Given the description of an element on the screen output the (x, y) to click on. 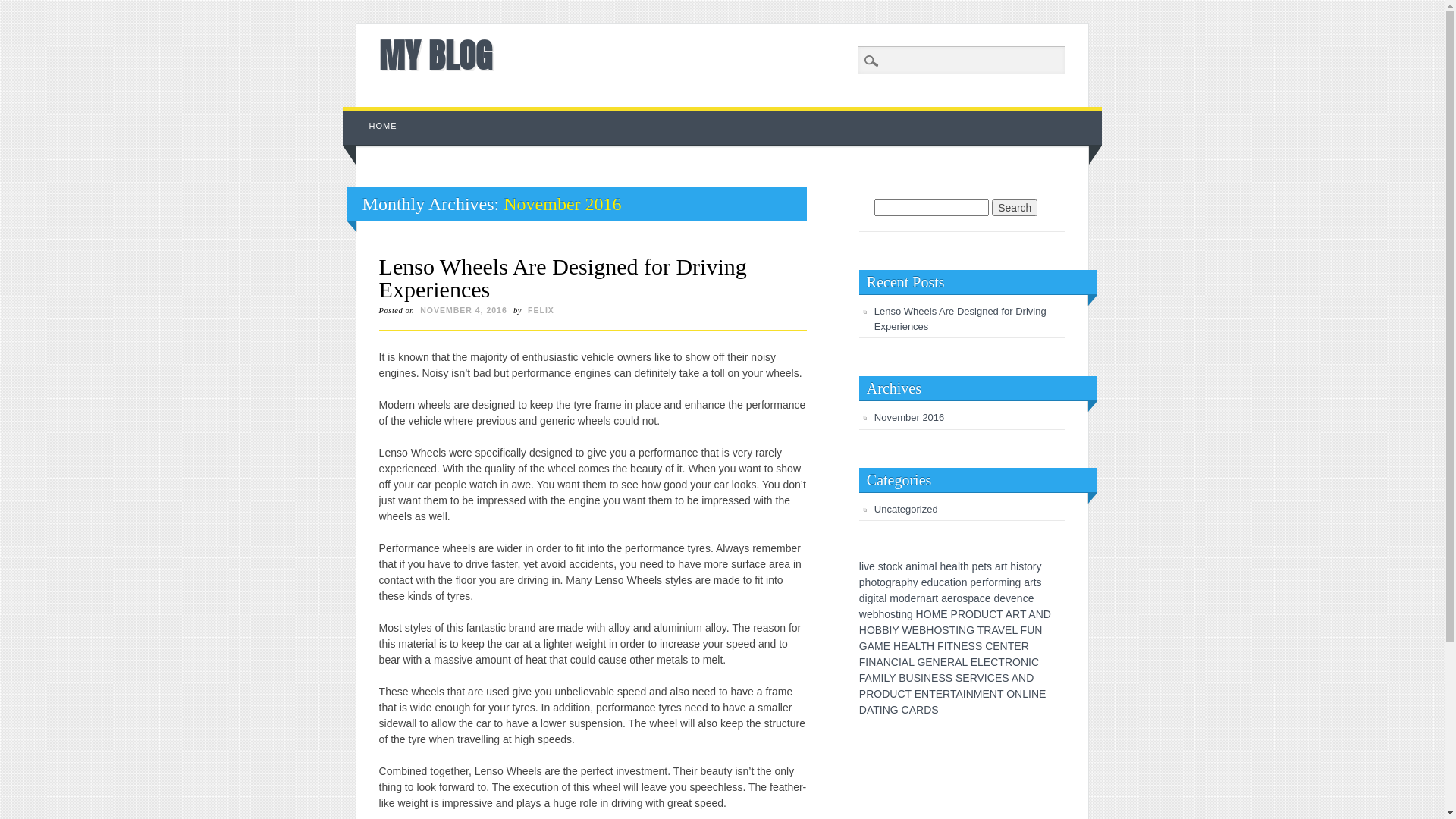
D Element type: text (1029, 677)
S Element type: text (1004, 677)
A Element type: text (957, 661)
a Element type: text (881, 598)
e Element type: text (913, 598)
o Element type: text (959, 598)
e Element type: text (1031, 598)
c Element type: text (982, 598)
e Element type: text (872, 566)
E Element type: text (997, 677)
l Element type: text (935, 566)
r Element type: text (1002, 566)
t Element type: text (877, 582)
t Element type: text (1034, 582)
r Element type: text (893, 582)
L Element type: text (1013, 630)
C Element type: text (988, 646)
F Element type: text (862, 677)
N Element type: text (936, 661)
d Element type: text (862, 598)
L Element type: text (885, 677)
D Element type: text (862, 709)
p Element type: text (972, 582)
B Element type: text (878, 630)
N Element type: text (1034, 693)
L Element type: text (1025, 693)
h Element type: text (881, 614)
w Element type: text (862, 614)
E Element type: text (917, 693)
B Element type: text (922, 630)
h Element type: text (1013, 566)
FELIX Element type: text (541, 309)
D Element type: text (1047, 614)
N Element type: text (962, 630)
E Element type: text (886, 646)
i Element type: text (1008, 582)
e Element type: text (1013, 598)
T Element type: text (953, 693)
U Element type: text (984, 614)
t Element type: text (896, 614)
E Element type: text (934, 677)
E Element type: text (928, 661)
S Element type: text (978, 646)
e Element type: text (948, 566)
e Element type: text (869, 614)
a Element type: text (1026, 582)
H Element type: text (929, 630)
T Element type: text (950, 646)
e Element type: text (1002, 598)
y Element type: text (915, 582)
I Element type: text (921, 677)
A Element type: text (994, 630)
o Element type: text (873, 582)
t Element type: text (1005, 566)
l Element type: text (958, 566)
t Element type: text (876, 598)
I Element type: text (889, 630)
R Element type: text (1015, 614)
n Element type: text (903, 614)
T Element type: text (1022, 614)
B Element type: text (901, 677)
e Element type: text (980, 566)
N Element type: text (1003, 646)
T Element type: text (908, 693)
M Element type: text (878, 646)
T Element type: text (923, 646)
O Element type: text (1010, 693)
o Element type: text (889, 566)
f Element type: text (986, 582)
e Element type: text (950, 598)
E Element type: text (903, 646)
o Element type: text (1029, 566)
c Element type: text (1025, 598)
I Element type: text (964, 693)
M Element type: text (876, 677)
u Element type: text (935, 582)
B Element type: text (884, 630)
R Element type: text (987, 630)
F Element type: text (1023, 630)
a Element type: text (897, 582)
O Element type: text (969, 614)
R Element type: text (919, 709)
k Element type: text (899, 566)
MY BLOG Element type: text (435, 55)
R Element type: text (961, 614)
h Element type: text (868, 582)
S Element type: text (944, 630)
NOVEMBER 4, 2016 Element type: text (463, 309)
M Element type: text (977, 693)
h Element type: text (909, 582)
S Element type: text (934, 709)
H Element type: text (919, 614)
E Element type: text (963, 646)
S Element type: text (948, 677)
E Element type: text (985, 693)
F Element type: text (940, 646)
R Element type: text (973, 677)
H Element type: text (930, 646)
L Element type: text (980, 661)
C Element type: text (1034, 661)
r Element type: text (1031, 582)
e Element type: text (924, 582)
a Element type: text (997, 566)
i Element type: text (862, 566)
H Element type: text (862, 630)
A Element type: text (1008, 614)
i Element type: text (1017, 566)
N Element type: text (1024, 661)
G Element type: text (863, 646)
t Element type: text (961, 566)
t Element type: text (951, 582)
D Element type: text (885, 693)
R Element type: text (869, 693)
o Element type: text (958, 582)
E Element type: text (943, 661)
Uncategorized Element type: text (906, 508)
A Element type: text (912, 709)
a Element type: text (944, 598)
n Element type: text (1012, 582)
I Element type: text (945, 646)
i Element type: text (874, 598)
S Element type: text (971, 646)
I Element type: text (882, 677)
m Element type: text (1002, 582)
E Element type: text (973, 661)
g Element type: text (1018, 582)
t Element type: text (884, 566)
r Element type: text (917, 598)
A Element type: text (870, 646)
r Element type: text (983, 582)
Y Element type: text (894, 630)
n Element type: text (922, 598)
D Element type: text (927, 709)
S Element type: text (916, 677)
g Element type: text (870, 598)
HOME Element type: text (383, 125)
c Element type: text (894, 566)
a Element type: text (947, 582)
i Element type: text (954, 582)
T Element type: text (999, 614)
O Element type: text (870, 630)
n Element type: text (914, 566)
o Element type: text (991, 582)
i Element type: text (899, 614)
c Element type: text (941, 582)
e Element type: text (978, 582)
d Element type: text (907, 598)
A Element type: text (958, 693)
Lenso Wheels Are Designed for Driving Experiences Element type: text (562, 277)
p Element type: text (975, 566)
s Element type: text (1038, 582)
R Element type: text (950, 661)
p Element type: text (970, 598)
A Element type: text (868, 677)
O Element type: text (937, 630)
n Element type: text (1019, 598)
s Element type: text (880, 566)
F Element type: text (862, 661)
m Element type: text (893, 598)
O Element type: text (927, 614)
E Element type: text (938, 693)
I Element type: text (899, 661)
a Element type: text (954, 566)
i Element type: text (866, 598)
N Element type: text (924, 693)
o Element type: text (887, 614)
a Element type: text (976, 598)
D Element type: text (977, 614)
s Element type: text (988, 566)
T Element type: text (1000, 661)
E Element type: text (986, 661)
E Element type: text (1016, 646)
N Element type: text (969, 693)
n Element type: text (964, 582)
R Element type: text (1008, 661)
e Element type: text (988, 598)
d Element type: text (929, 582)
M Element type: text (936, 614)
V Element type: text (1000, 630)
N Element type: text (887, 661)
a Element type: text (908, 566)
E Element type: text (915, 630)
C Element type: text (894, 661)
o Element type: text (901, 598)
N Element type: text (1037, 630)
s Element type: text (1020, 566)
r Element type: text (955, 598)
I Element type: text (866, 661)
R Element type: text (1025, 646)
Lenso Wheels Are Designed for Driving Experiences Element type: text (960, 318)
N Element type: text (886, 709)
A Element type: text (910, 646)
a Element type: text (931, 566)
v Element type: text (1007, 598)
S Element type: text (941, 677)
b Element type: text (875, 614)
l Element type: text (860, 566)
A Element type: text (878, 661)
E Element type: text (943, 614)
E Element type: text (995, 646)
i Element type: text (918, 566)
I Element type: text (956, 630)
V Element type: text (980, 677)
I Element type: text (1029, 693)
C Element type: text (993, 661)
p Element type: text (862, 582)
I Element type: text (985, 677)
T Element type: text (952, 630)
s Element type: text (892, 614)
Skip to content Element type: text (377, 114)
N Element type: text (1018, 693)
A Element type: text (1014, 677)
L Element type: text (964, 661)
W Element type: text (906, 630)
v Element type: text (866, 566)
U Element type: text (909, 677)
T Element type: text (875, 709)
Search Element type: text (22, 8)
T Element type: text (931, 693)
Search Element type: text (1014, 207)
L Element type: text (917, 646)
N Element type: text (871, 661)
N Element type: text (993, 693)
g Element type: text (888, 582)
h Element type: text (943, 566)
a Element type: text (928, 598)
H Element type: text (896, 646)
P Element type: text (953, 614)
O Element type: text (1016, 661)
E Element type: text (965, 677)
A Element type: text (904, 661)
G Element type: text (920, 661)
A Element type: text (869, 709)
G Element type: text (970, 630)
s Element type: text (964, 598)
p Element type: text (903, 582)
I Element type: text (880, 709)
y Element type: text (1038, 566)
N Element type: text (1039, 614)
E Element type: text (1007, 630)
S Element type: text (958, 677)
m Element type: text (923, 566)
d Element type: text (996, 598)
Y Element type: text (891, 677)
t Element type: text (936, 598)
C Element type: text (990, 677)
t Element type: text (1024, 566)
C Element type: text (992, 614)
U Element type: text (1030, 630)
C Element type: text (900, 693)
O Element type: text (877, 693)
N Element type: text (956, 646)
G Element type: text (894, 709)
r Element type: text (1034, 566)
h Element type: text (966, 566)
U Element type: text (893, 693)
November 2016 Element type: text (909, 417)
C Element type: text (905, 709)
r Element type: text (933, 598)
T Element type: text (1010, 646)
I Element type: text (1029, 661)
E Element type: text (1041, 693)
l Element type: text (885, 598)
t Element type: text (984, 566)
L Element type: text (910, 661)
o Element type: text (882, 582)
A Element type: text (1031, 614)
N Element type: text (927, 677)
T Element type: text (1000, 693)
P Element type: text (862, 693)
T Element type: text (980, 630)
N Element type: text (1022, 677)
R Element type: text (946, 693)
r Element type: text (995, 582)
g Element type: text (909, 614)
